Given the description of an element on the screen output the (x, y) to click on. 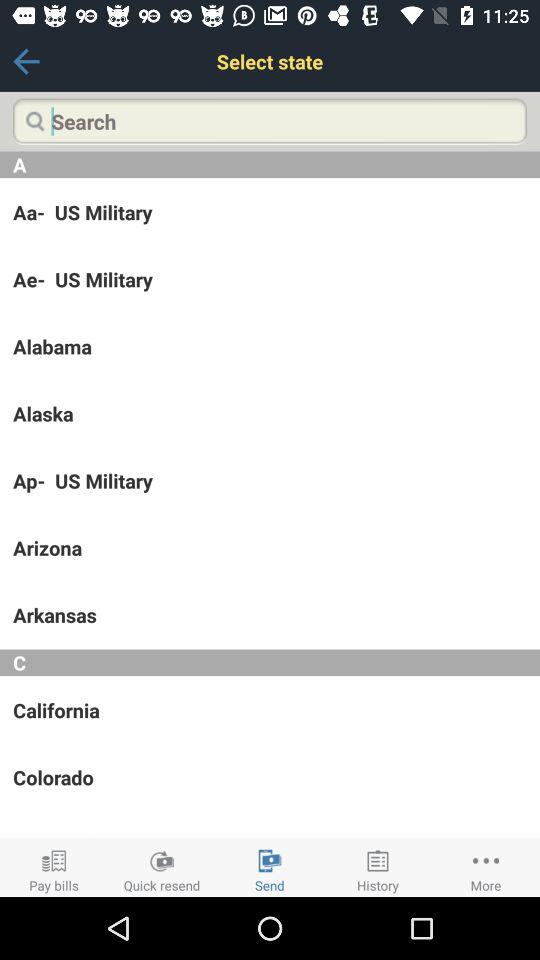
open the app below arizona icon (270, 615)
